Given the description of an element on the screen output the (x, y) to click on. 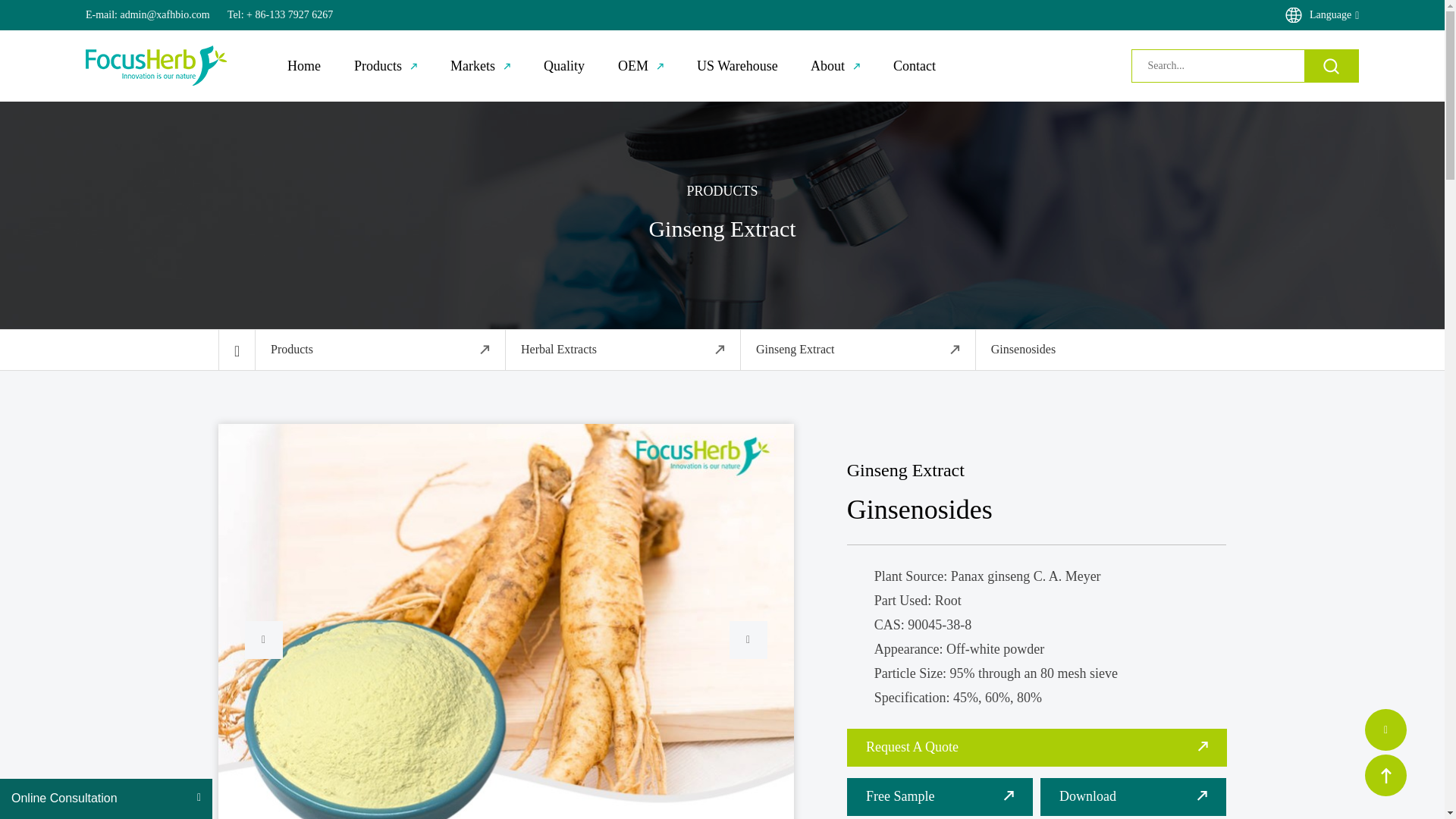
Go to the products (380, 350)
Go to the Herbal Extracts Category archives. (623, 350)
Go to the Ginseng Extract Category archives. (858, 350)
Go to FocusHerb. (237, 350)
Language (1321, 14)
Products (384, 65)
Home (303, 65)
